Given the description of an element on the screen output the (x, y) to click on. 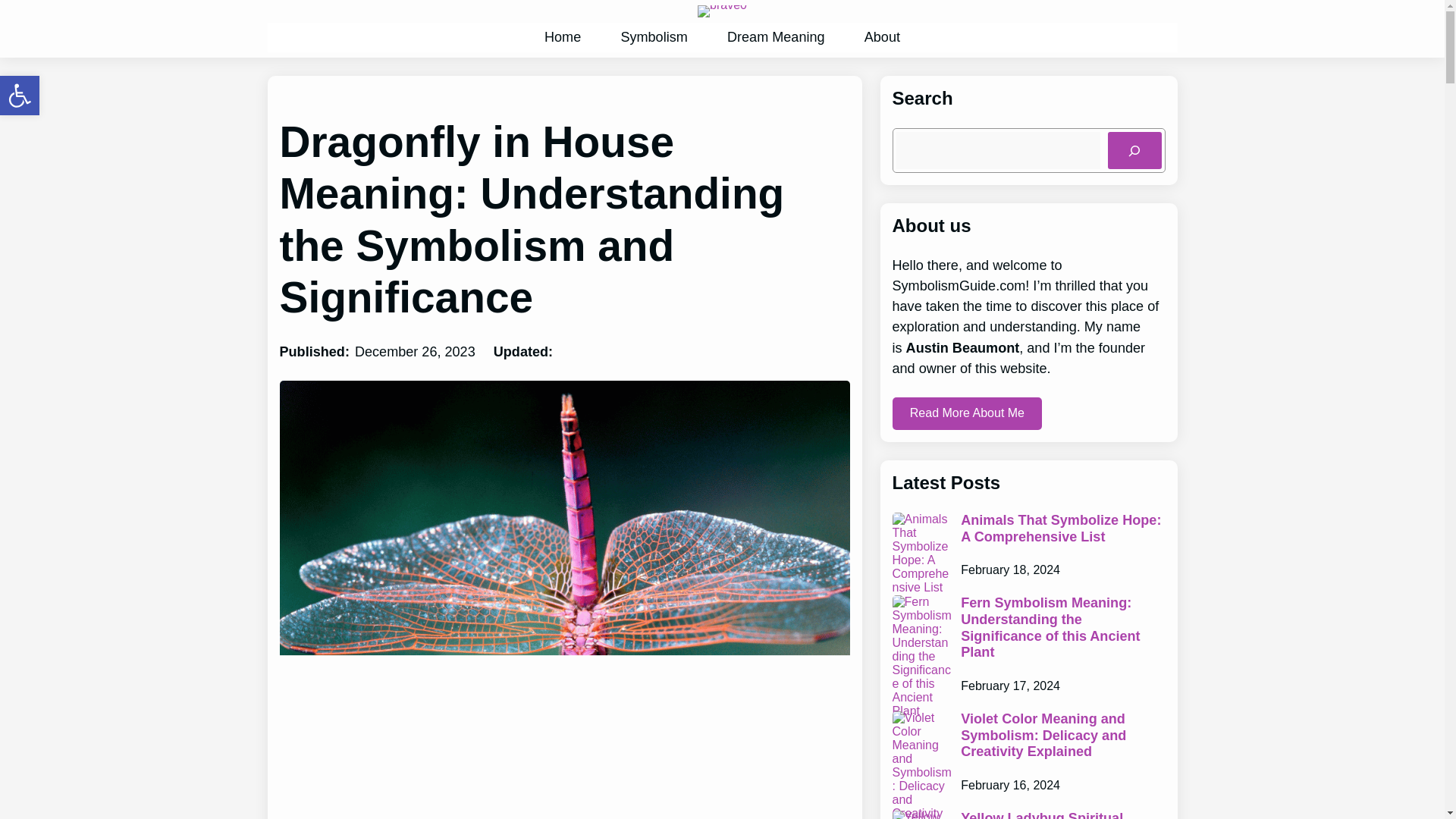
Accessibility Tools (19, 95)
Home (562, 37)
Symbolism (654, 37)
Accessibility Tools (19, 95)
Read More About Me (966, 413)
Animals That Symbolize Hope: A Comprehensive List (1062, 528)
About (882, 37)
Dream Meaning (775, 37)
